Given the description of an element on the screen output the (x, y) to click on. 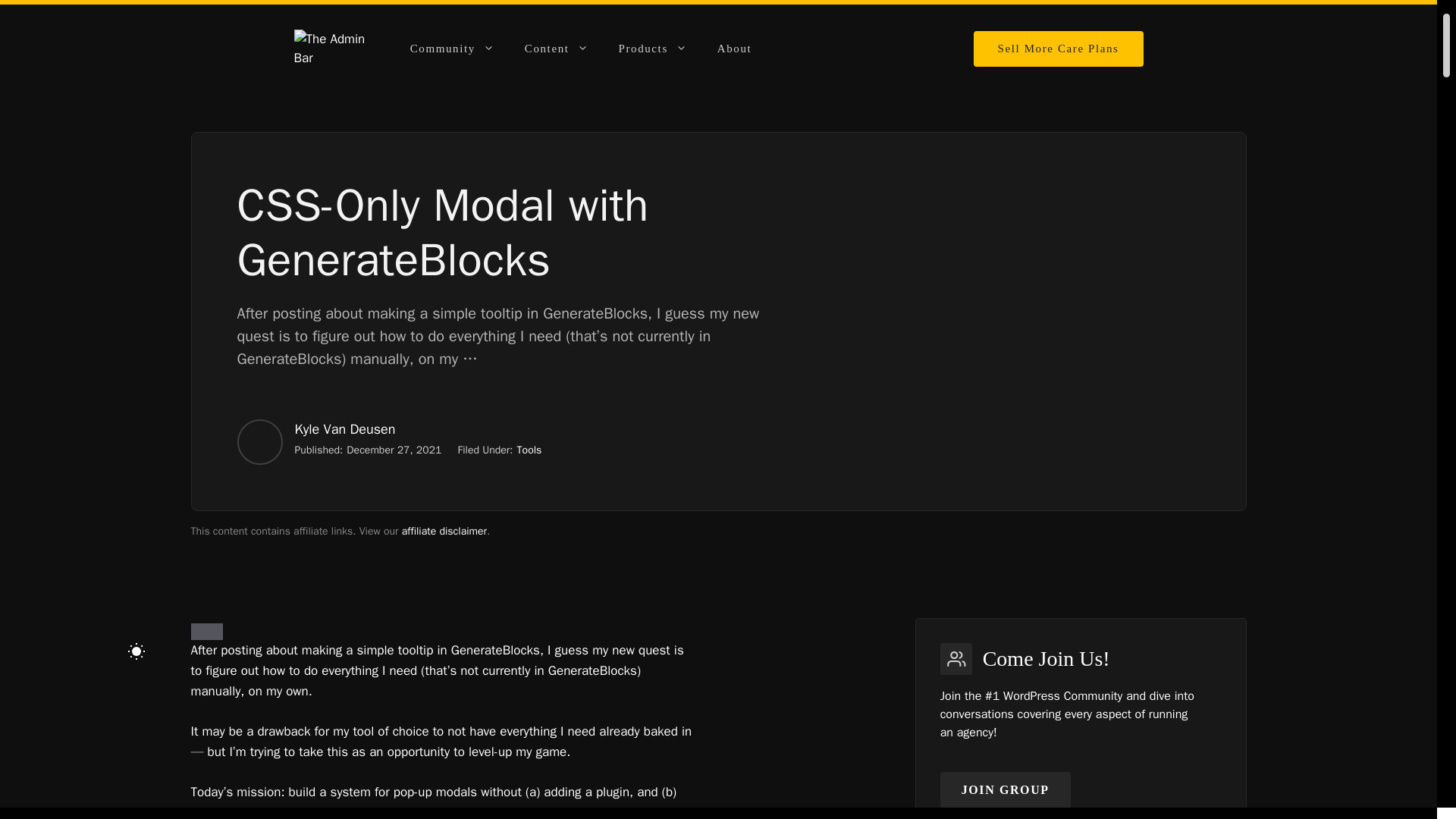
Products (652, 48)
About (734, 48)
Content (556, 48)
GenerateBlocks (592, 670)
Kyle Van Deusen (344, 428)
affiliate disclaimer (443, 530)
Tools (528, 449)
simple tooltip in GenerateBlocks (448, 650)
Sell More Care Plans (1058, 48)
Community (451, 48)
